Given the description of an element on the screen output the (x, y) to click on. 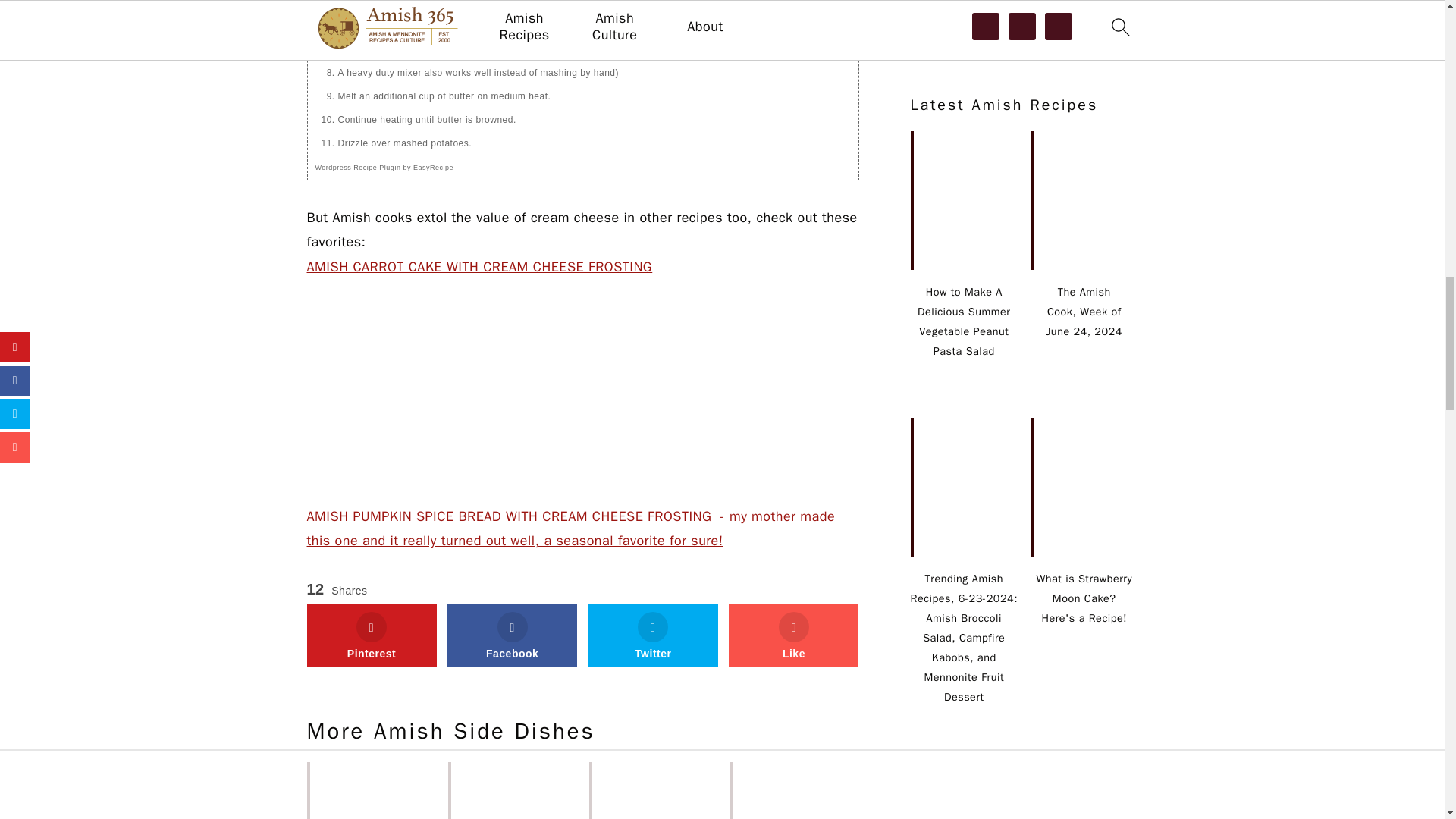
EasyRecipe Wordpress Recipe Plugin (383, 167)
